Given the description of an element on the screen output the (x, y) to click on. 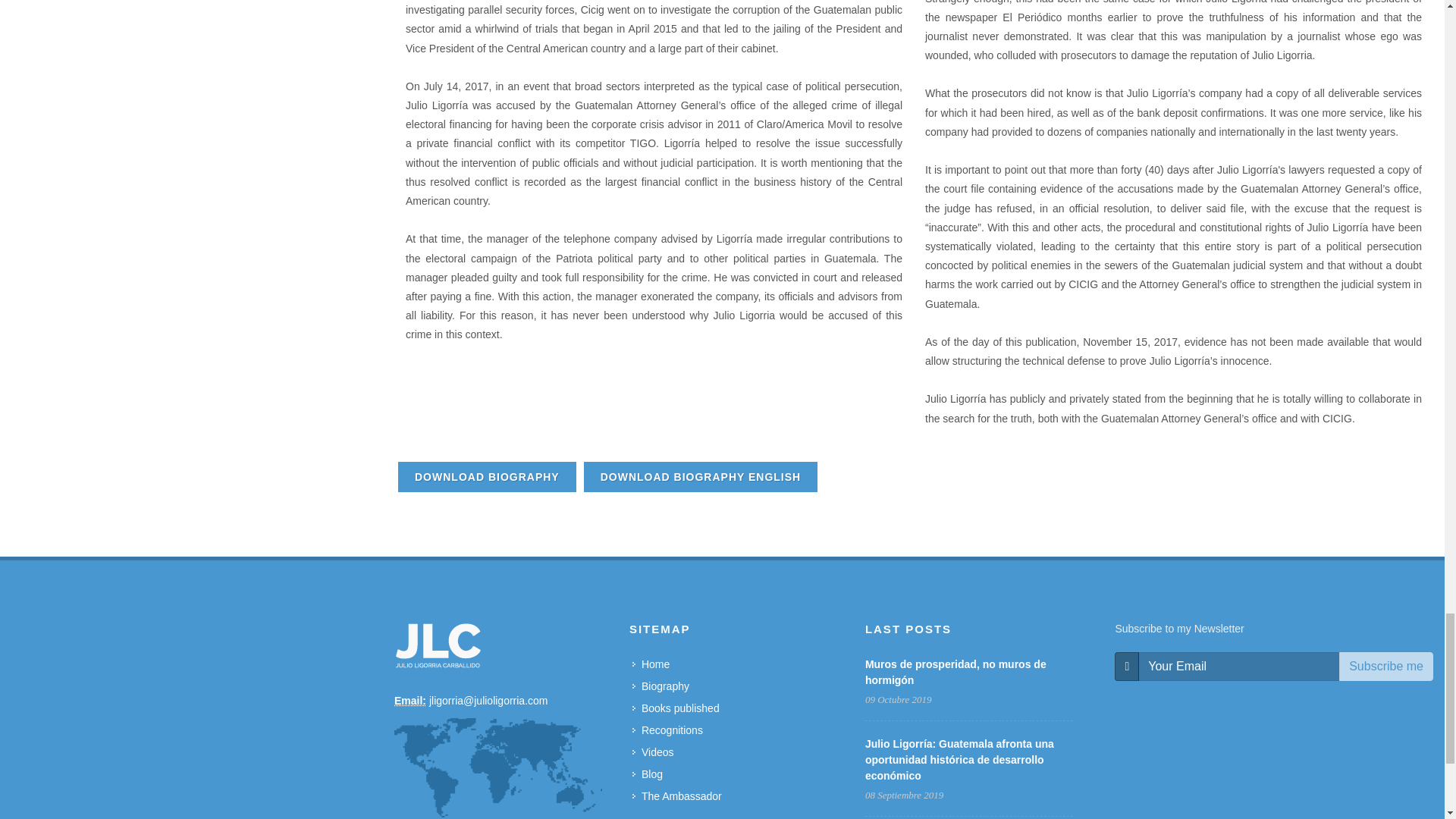
Books published (676, 708)
Home (651, 664)
DOWNLOAD BIOGRAPHY ENGLISH (700, 476)
Subscribe me (1385, 665)
Biography (661, 686)
The Ambassador (677, 796)
Blog (648, 774)
Recognitions (667, 730)
Email Address (410, 700)
Videos (654, 752)
DOWNLOAD BIOGRAPHY (486, 476)
